Given the description of an element on the screen output the (x, y) to click on. 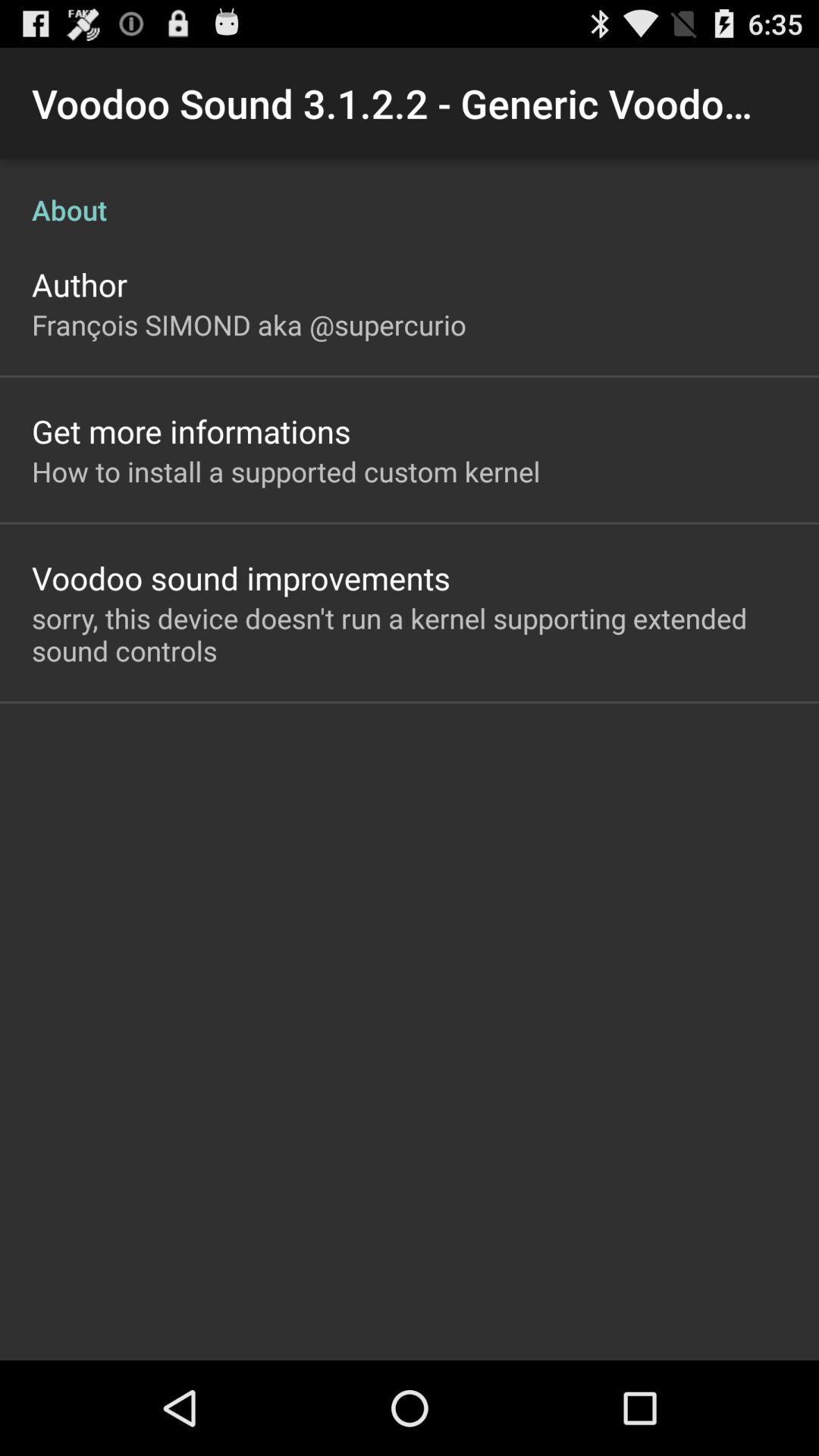
turn off the sorry this device item (409, 634)
